Given the description of an element on the screen output the (x, y) to click on. 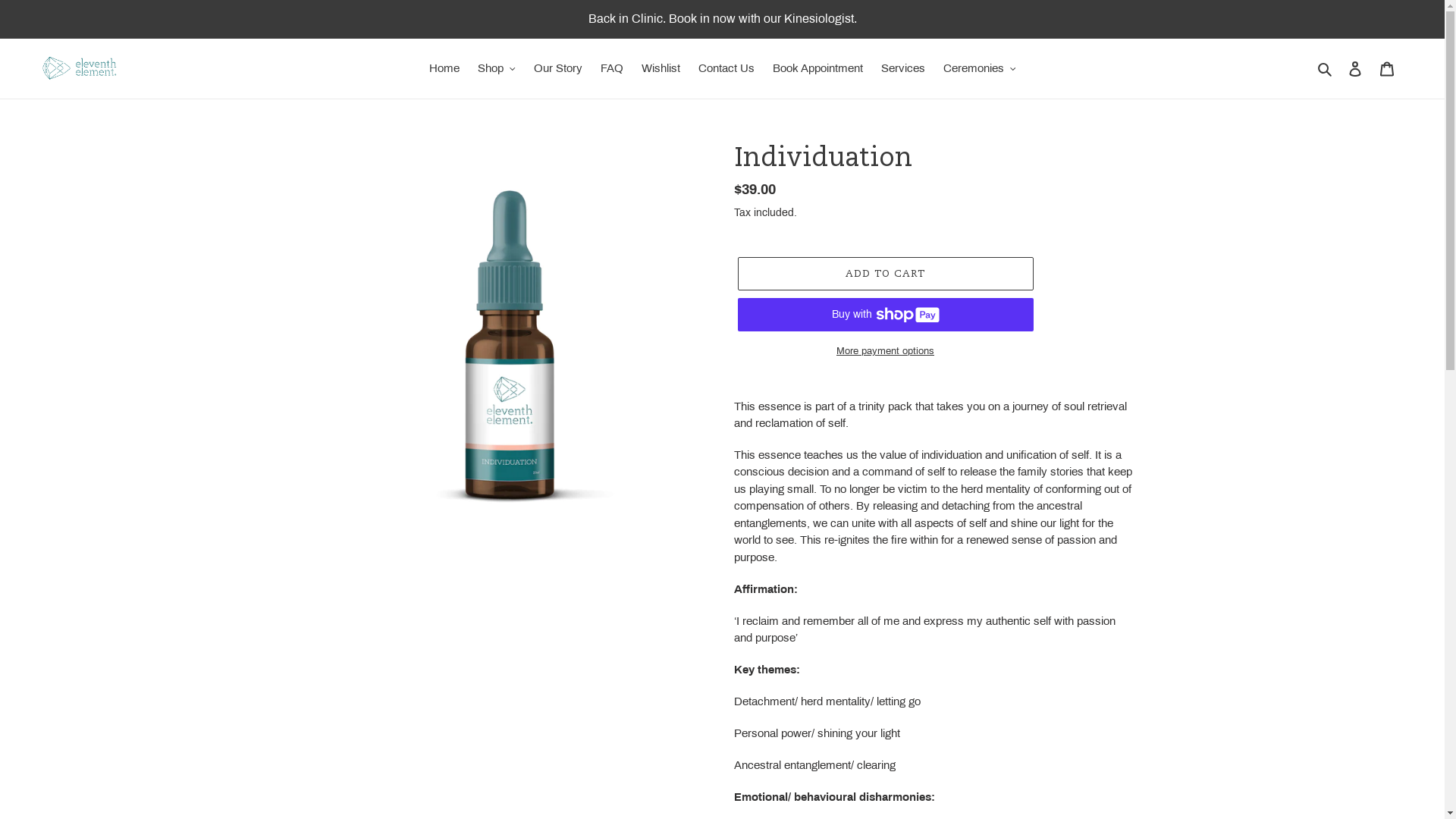
Book Appointment Element type: text (816, 68)
Search Element type: text (1325, 68)
Our Story Element type: text (557, 68)
More payment options Element type: text (884, 351)
Ceremonies Element type: text (979, 68)
ADD TO CART Element type: text (884, 273)
Cart Element type: text (1386, 68)
Shop Element type: text (496, 68)
Wishlist Element type: text (660, 68)
Log in Element type: text (1355, 68)
Contact Us Element type: text (725, 68)
Home Element type: text (444, 68)
FAQ Element type: text (611, 68)
Services Element type: text (902, 68)
